Given the description of an element on the screen output the (x, y) to click on. 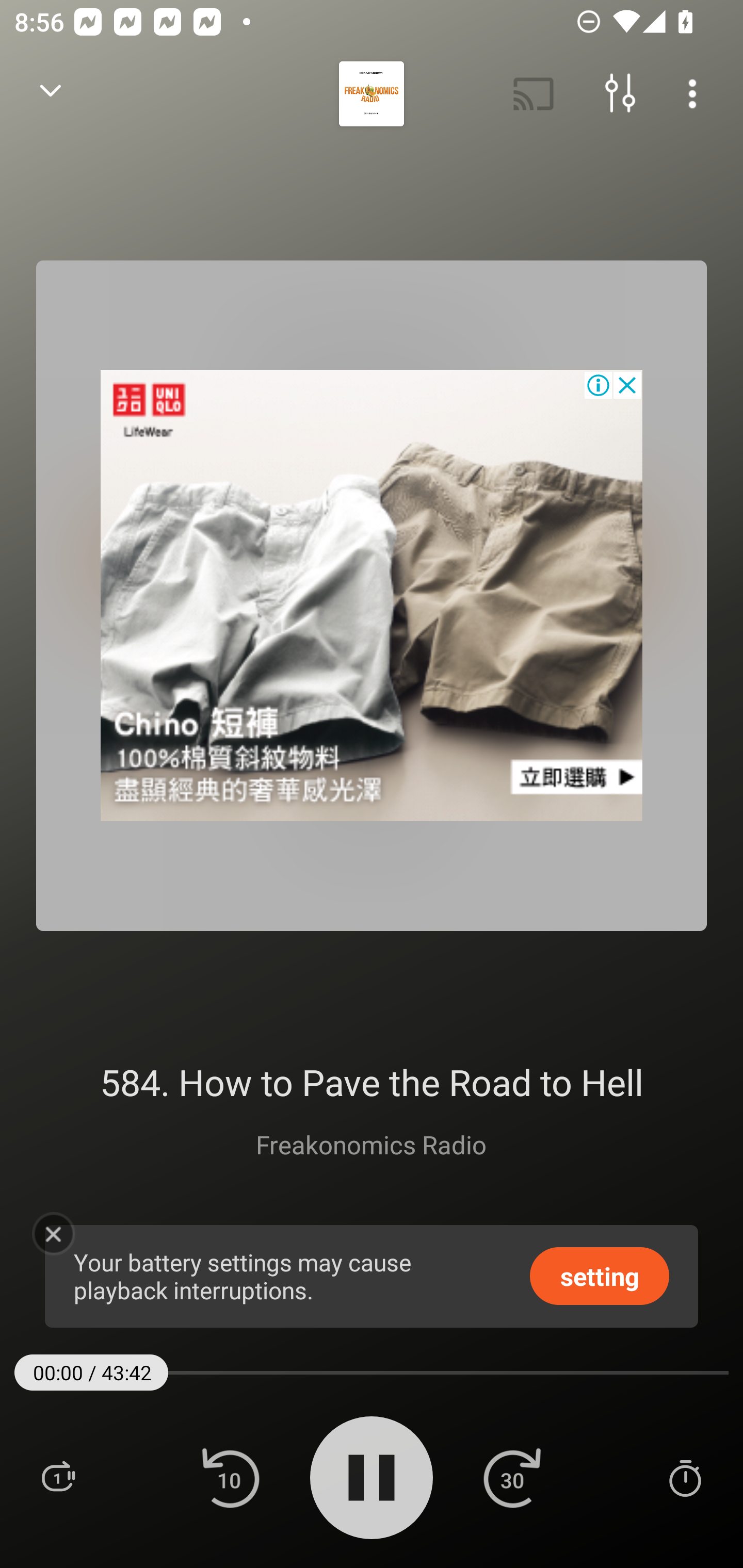
Cast. Disconnected (533, 93)
 Back (50, 94)
Advertisement (371, 595)
584. How to Pave the Road to Hell (371, 1081)
Freakonomics Radio (370, 1144)
setting (599, 1275)
 Playlist (57, 1477)
Sleep Timer  (684, 1477)
